Given the description of an element on the screen output the (x, y) to click on. 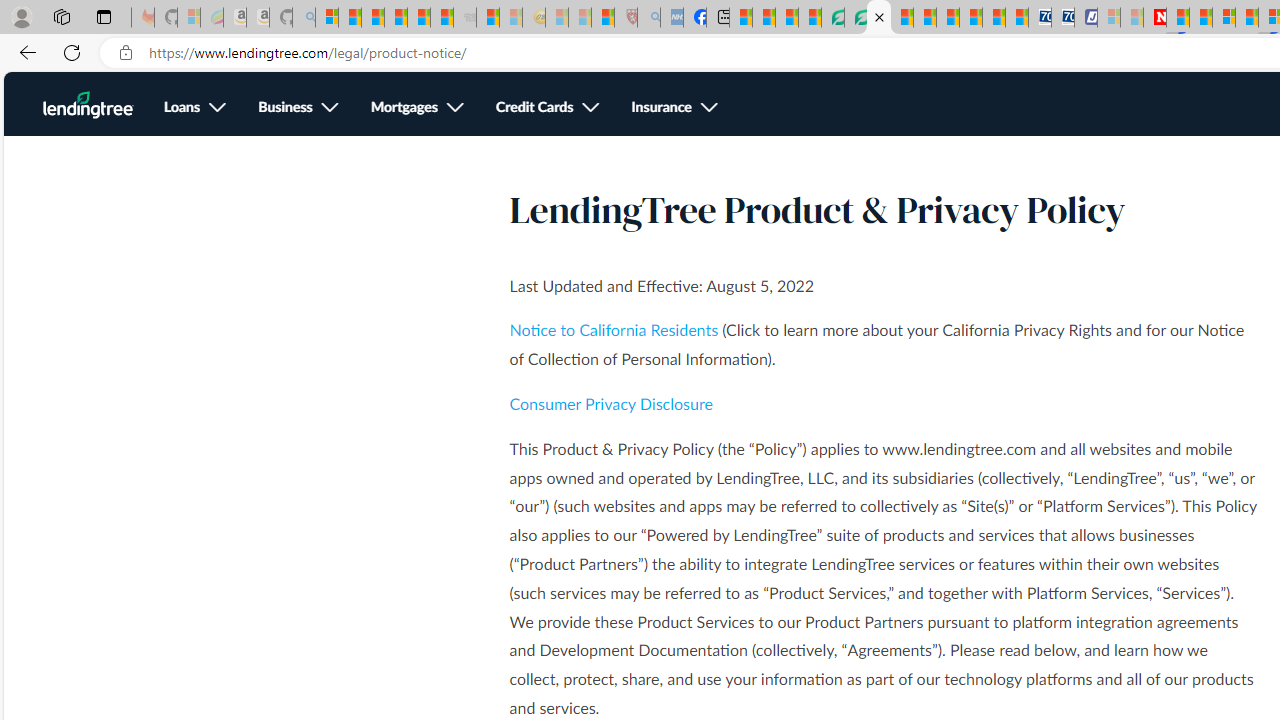
Insurance, see more (675, 107)
Combat Siege - Sleeping (465, 17)
Loans, see more (194, 107)
Consumer Privacy Disclosure (610, 404)
